Given the description of an element on the screen output the (x, y) to click on. 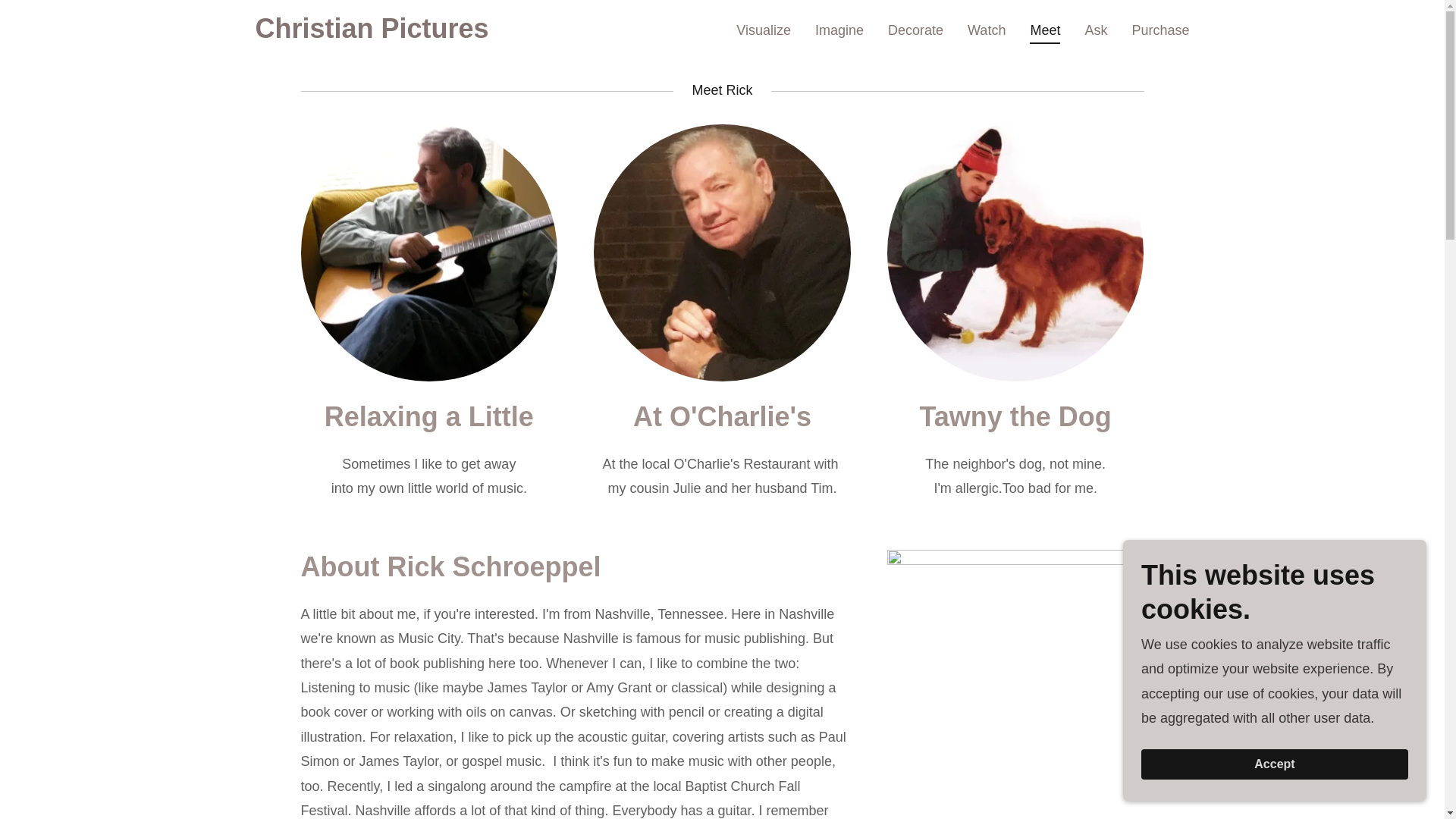
Purchase (1159, 29)
Visualize (763, 29)
Imagine (838, 29)
Christian Pictures (370, 32)
Watch (986, 29)
Ask (1096, 29)
Accept (1274, 764)
Meet (1044, 32)
Christian Pictures (370, 32)
Decorate (915, 29)
